Given the description of an element on the screen output the (x, y) to click on. 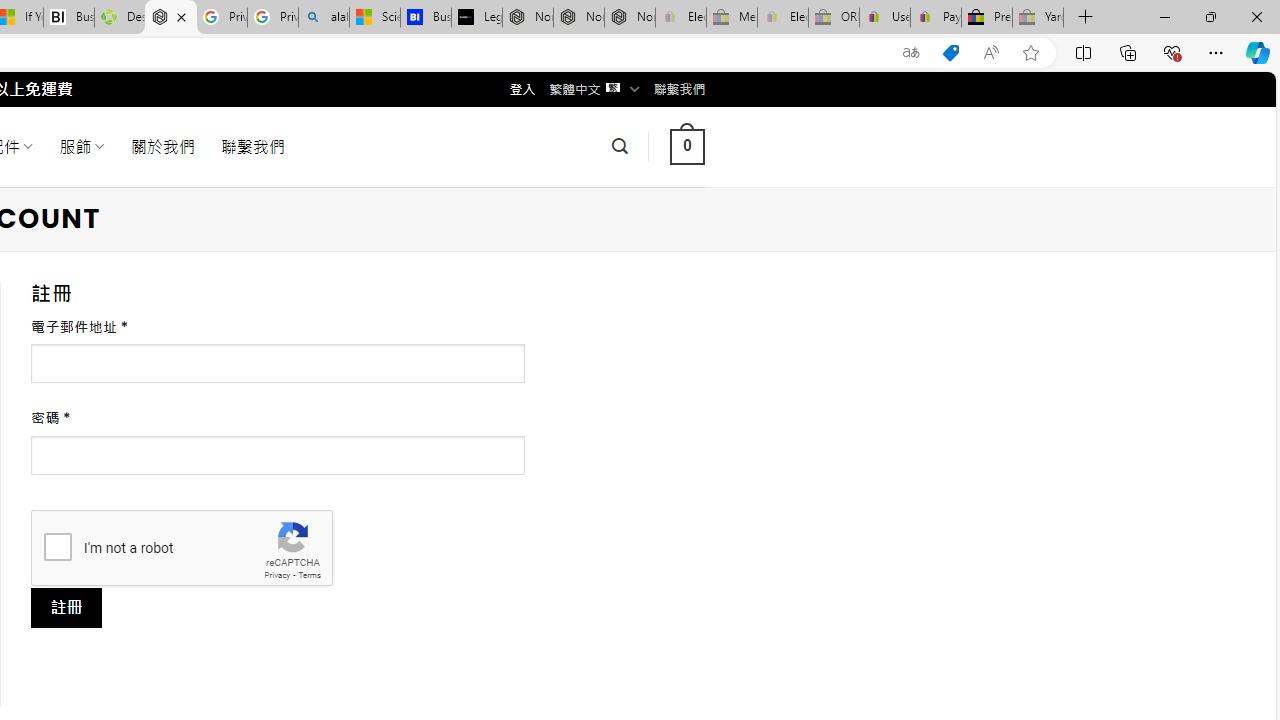
Terms (309, 575)
User Privacy Notice | eBay (885, 17)
